Given the description of an element on the screen output the (x, y) to click on. 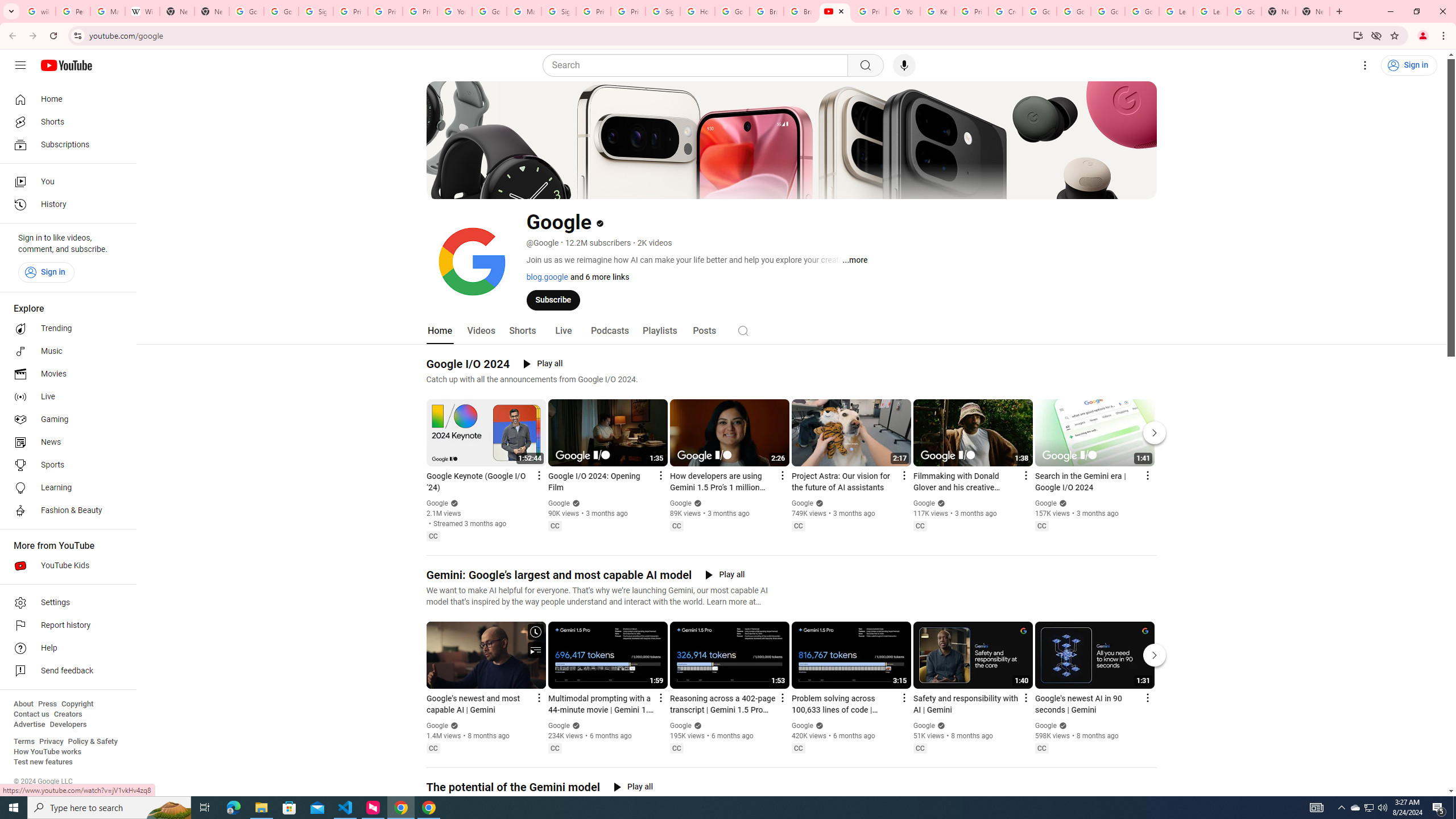
YouTube Kids (64, 565)
Shorts (64, 121)
Google Account Help (1073, 11)
Search with your voice (903, 65)
Install YouTube (1358, 35)
Test new features (42, 761)
Google Account Help (489, 11)
Sports (64, 464)
Copyright (77, 703)
Sign in - Google Accounts (662, 11)
